Given the description of an element on the screen output the (x, y) to click on. 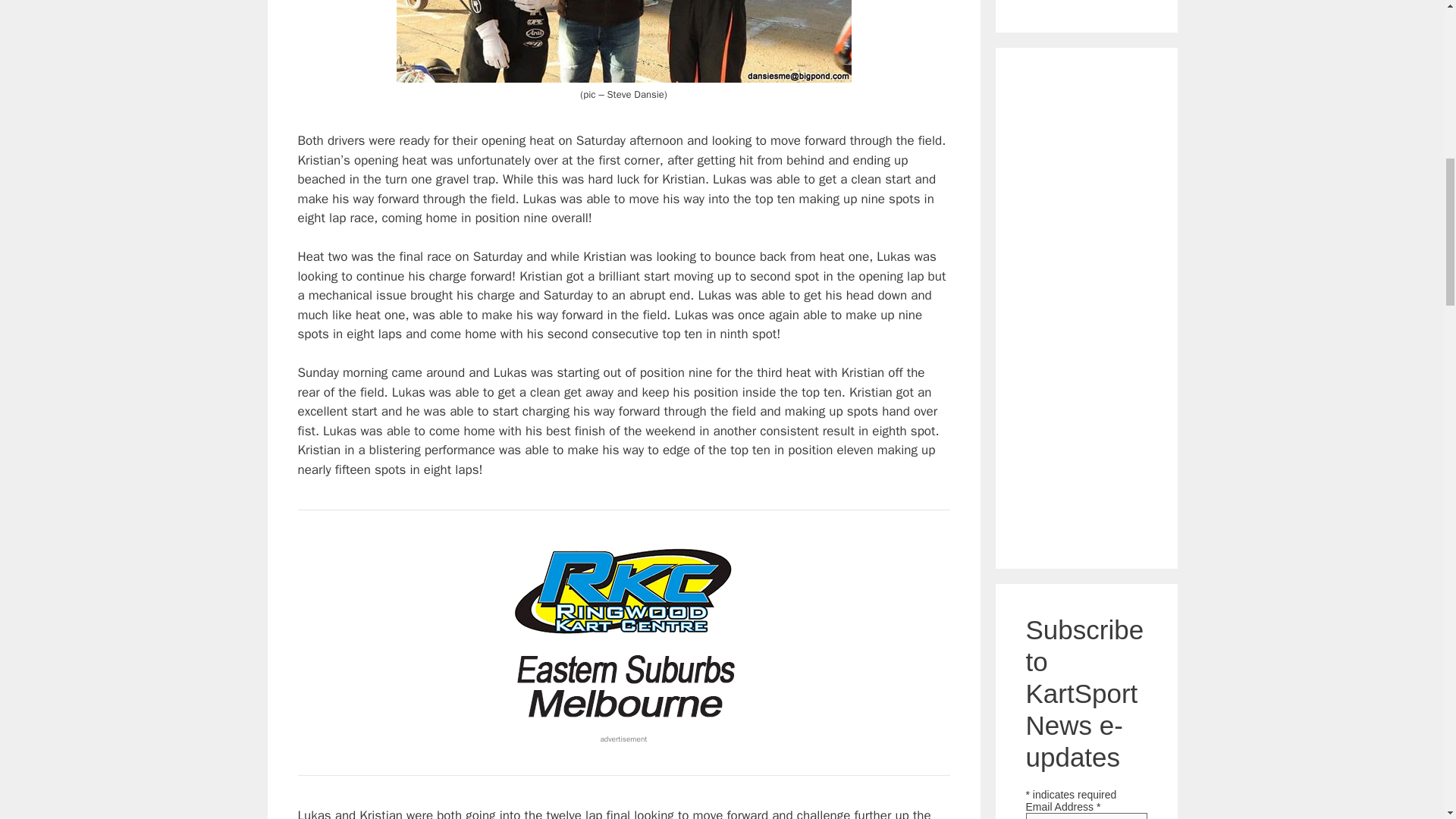
Advertisement (1086, 305)
Scroll back to top (1406, 720)
